Given the description of an element on the screen output the (x, y) to click on. 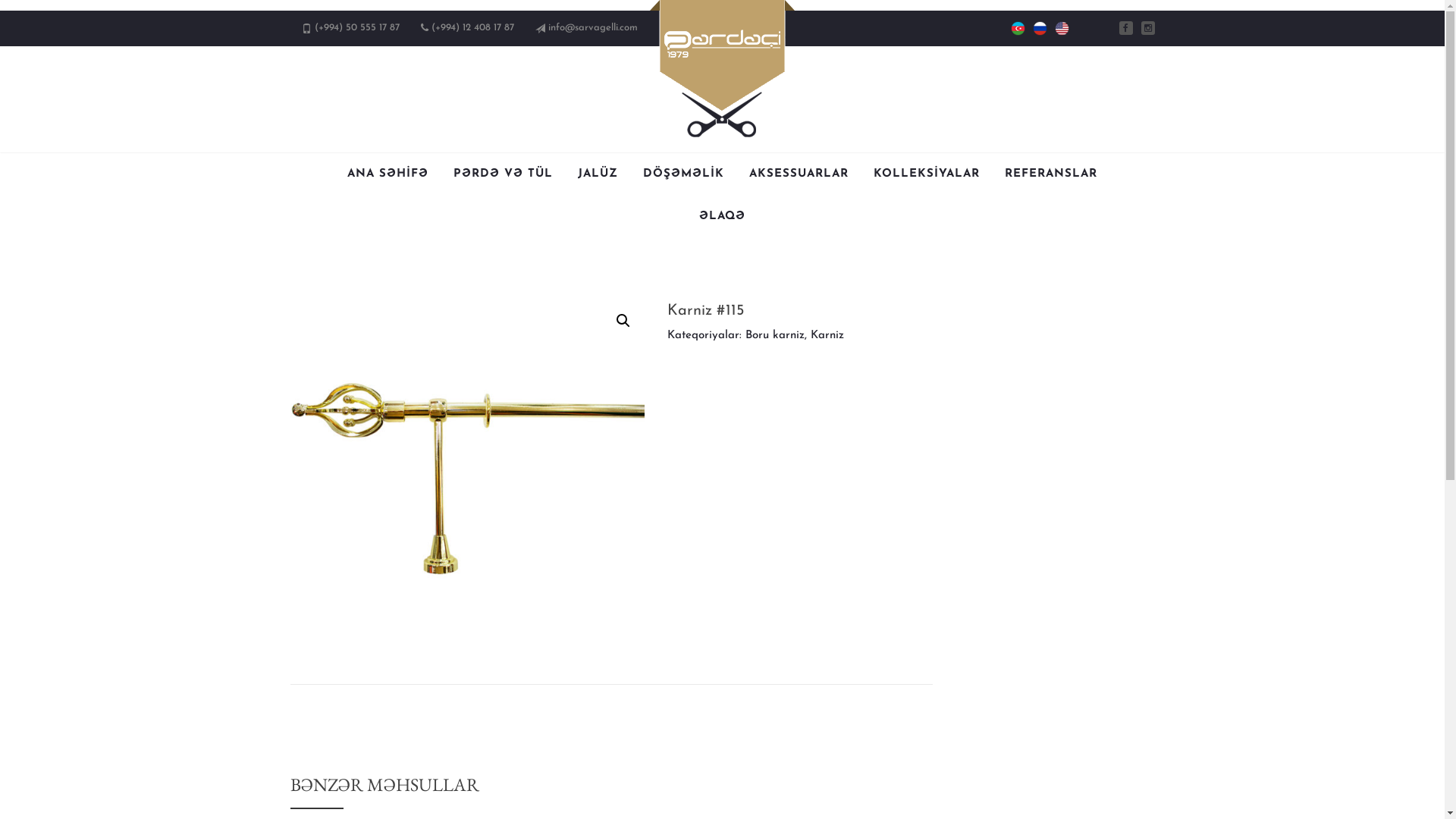
Karniz Element type: text (827, 335)
renso (16) Element type: hover (466, 476)
Instagram Element type: hover (1147, 27)
AKSESSUARLAR Element type: text (798, 174)
info@sarvagelli.com Element type: text (592, 27)
Facebook Element type: hover (1125, 27)
REFERANSLAR Element type: text (1050, 174)
Boru karniz Element type: text (774, 335)
KOLLEKSIYALAR Element type: text (926, 174)
